Given the description of an element on the screen output the (x, y) to click on. 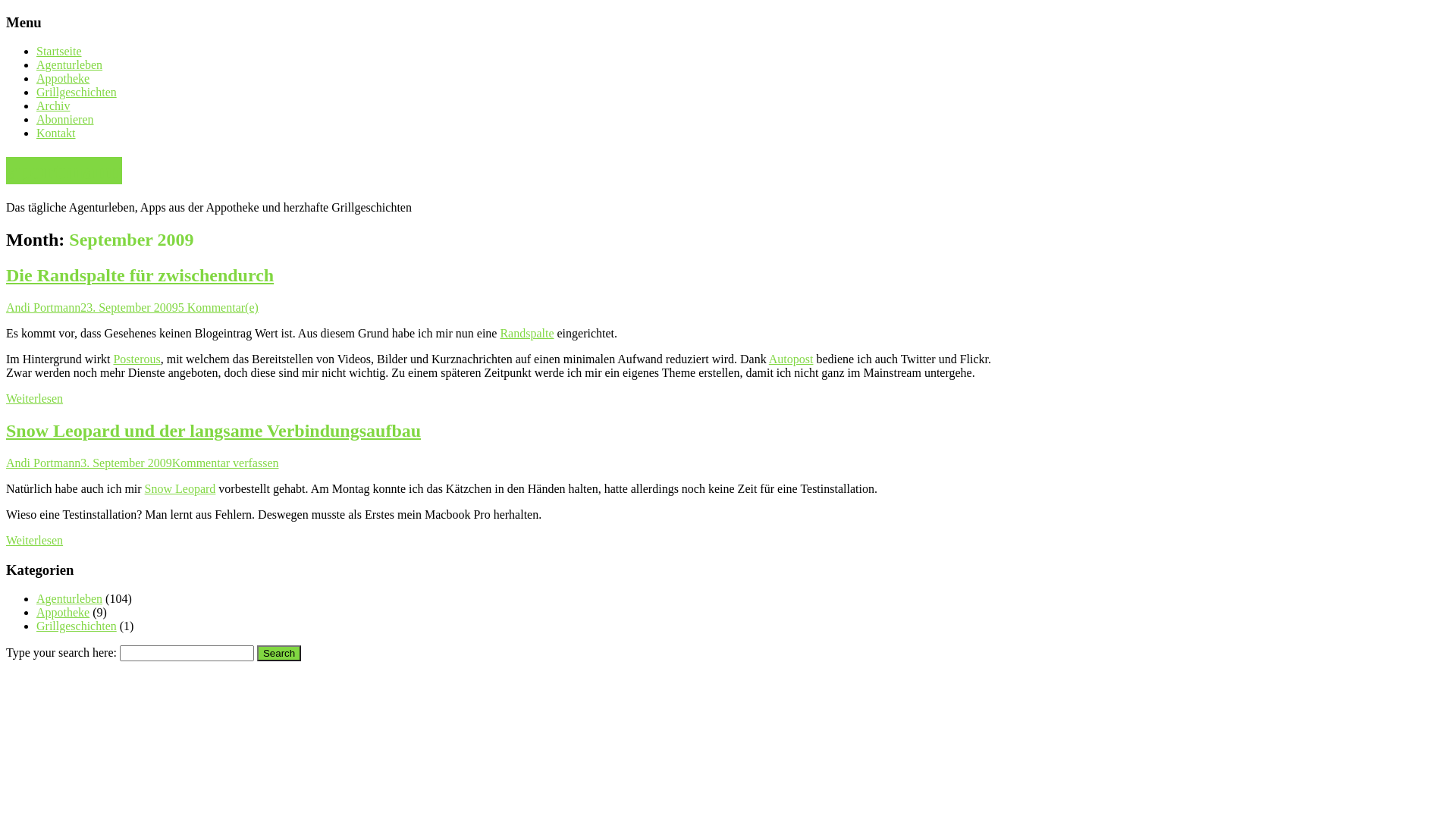
Grillgeschichten Element type: text (76, 91)
Weiterlesen Element type: text (34, 539)
3. September 2009 Element type: text (125, 462)
23. September 2009 Element type: text (128, 307)
Abonnieren Element type: text (65, 118)
Agenturleben Element type: text (69, 64)
Archiv Element type: text (52, 105)
Autopost Element type: text (790, 358)
Agenturleben Element type: text (69, 598)
Posterous Element type: text (136, 358)
Kontakt Element type: text (55, 132)
Kommentar verfassen Element type: text (225, 462)
Randspalte Element type: text (526, 332)
Weiterlesen Element type: text (34, 398)
Appotheke Element type: text (62, 78)
Startseite Element type: text (58, 50)
Grillgeschichten Element type: text (76, 625)
Appotheke Element type: text (62, 611)
Snow Leopard Element type: text (180, 488)
Andi Portmann Element type: text (43, 462)
Snow Leopard und der langsame Verbindungsaufbau Element type: text (213, 430)
Andi Portmann Element type: text (43, 307)
aportmann Element type: text (64, 170)
Search Element type: text (279, 653)
5 Kommentar(e) Element type: text (218, 307)
